Given the description of an element on the screen output the (x, y) to click on. 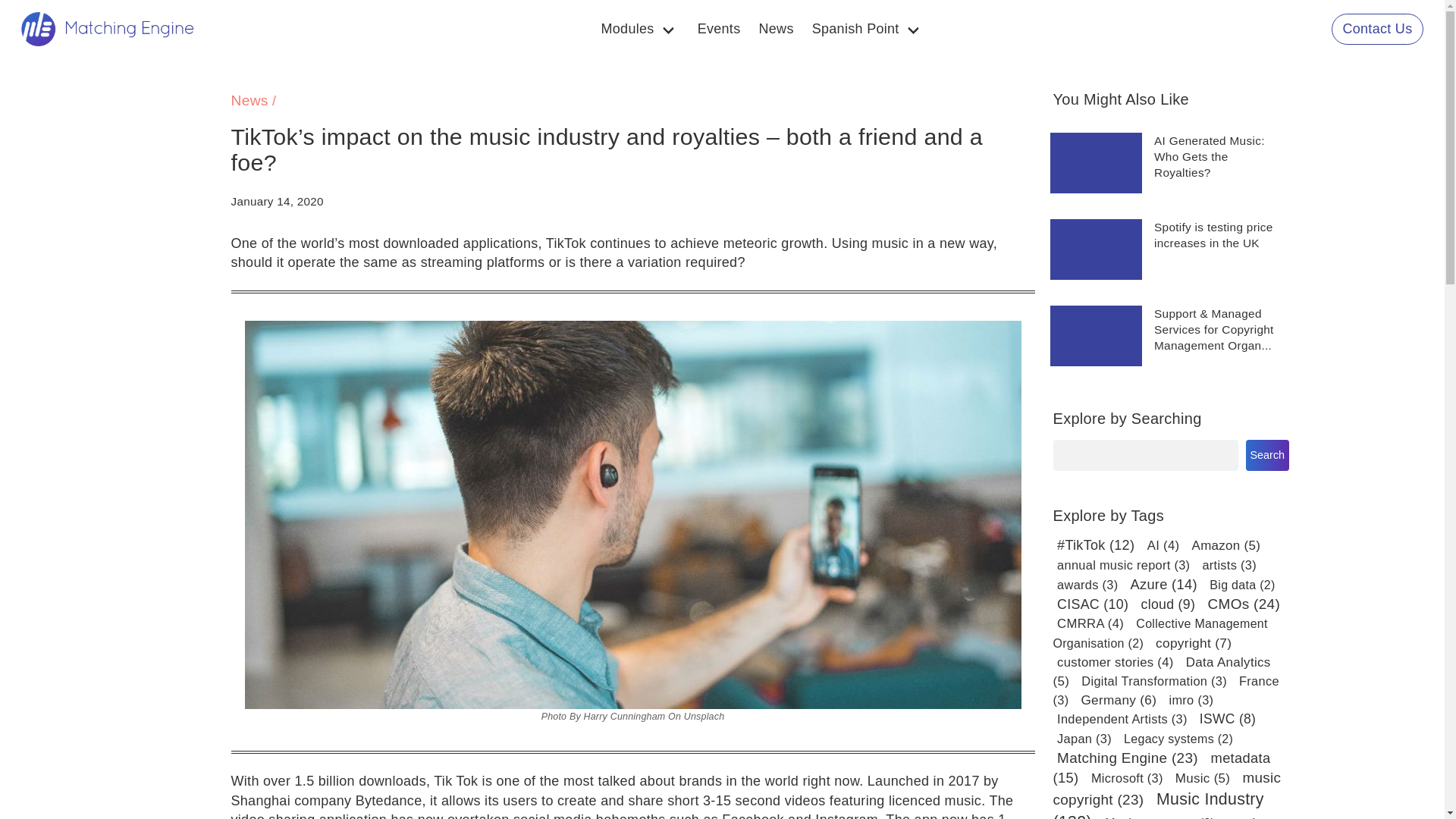
Modules (639, 29)
Spotify is testing price increases in the UK (1213, 234)
Events (718, 29)
News (248, 100)
Contact Us (1377, 29)
Search (1266, 454)
News (775, 29)
Spanish Point (868, 29)
Search (1266, 454)
AI Generated Music: Who Gets the Royalties? (1209, 155)
